Given the description of an element on the screen output the (x, y) to click on. 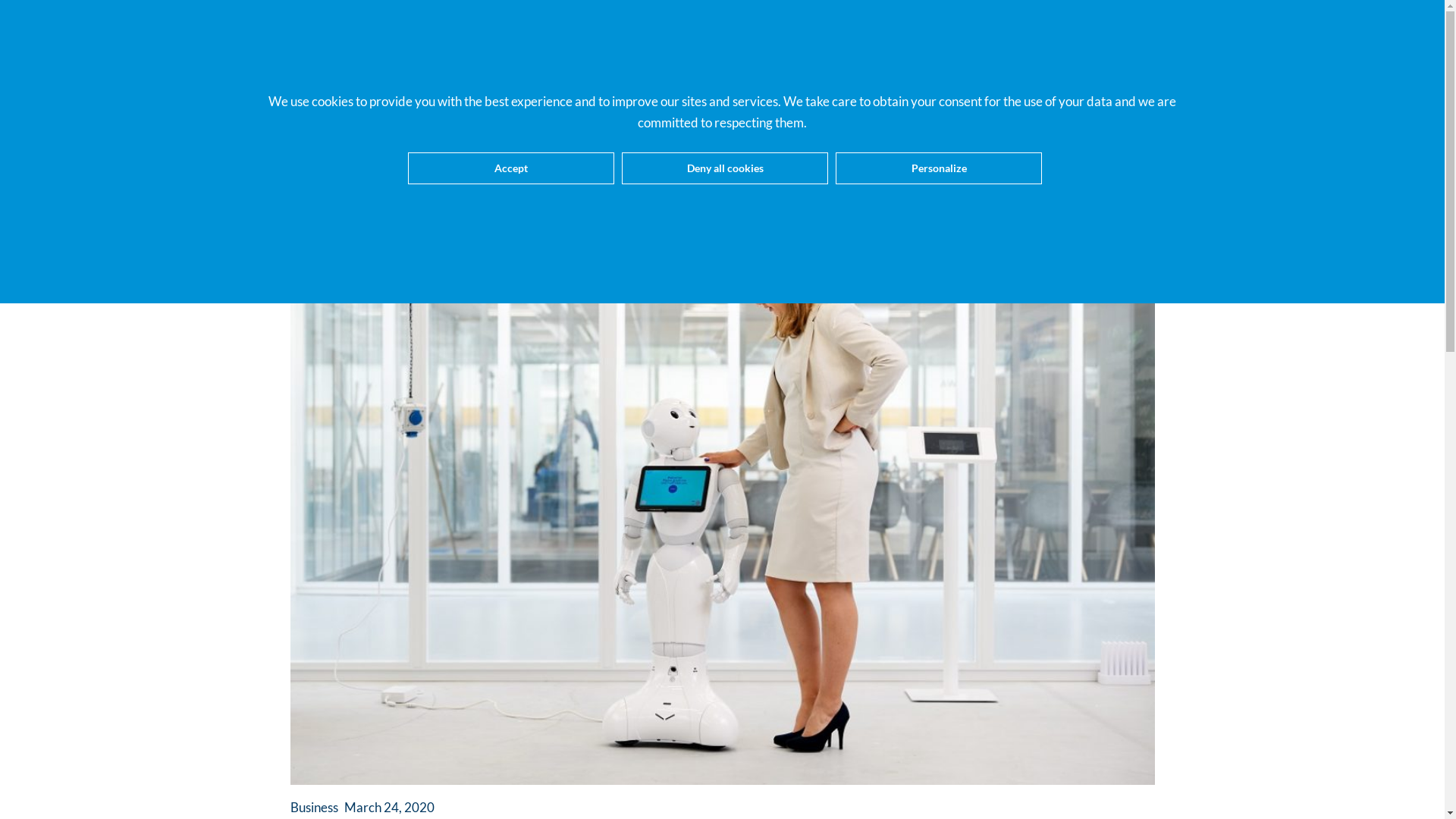
Business Element type: text (313, 807)
BLOG Element type: text (723, 83)
BUSINESS LINES & SECTORS Element type: text (502, 83)
HOME Element type: text (286, 83)
JOIN US Element type: text (656, 83)
Deny all cookies Element type: text (724, 168)
Personalize Element type: text (938, 168)
OFFICES Element type: text (790, 83)
Accept Element type: text (510, 168)
EN Element type: text (1115, 83)
ABOUT Element type: text (352, 83)
